Given the description of an element on the screen output the (x, y) to click on. 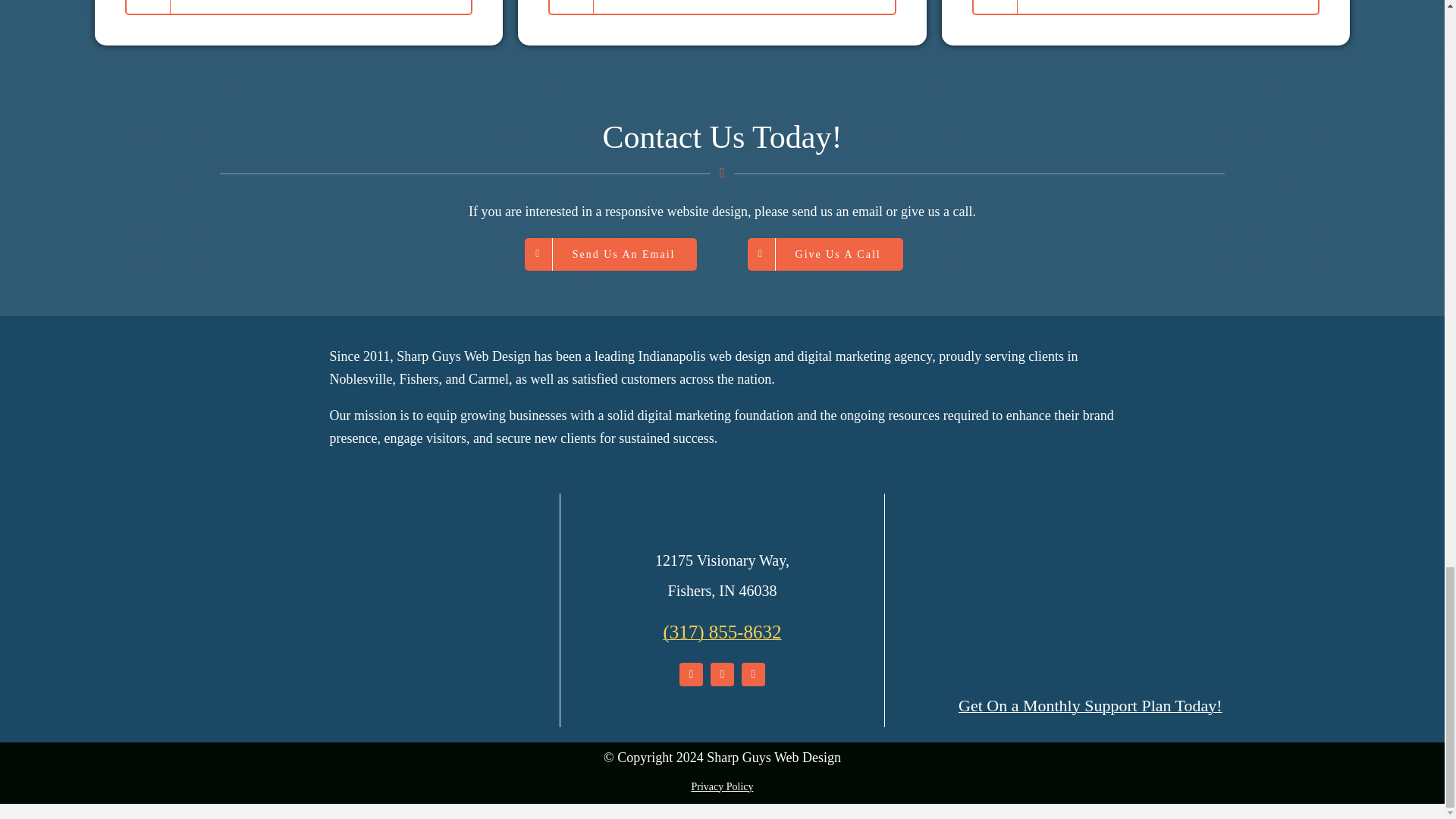
Facebook (691, 674)
Project Details (298, 7)
Get On a Monthly Support Plan Today! (1090, 705)
Give Us A Call (825, 254)
Project Details (721, 7)
LinkedIn (753, 674)
X (721, 674)
Privacy Policy (721, 786)
Send Us An Email (610, 254)
Project Details (1145, 7)
Lowes Responsive Mockup (1090, 594)
